Given the description of an element on the screen output the (x, y) to click on. 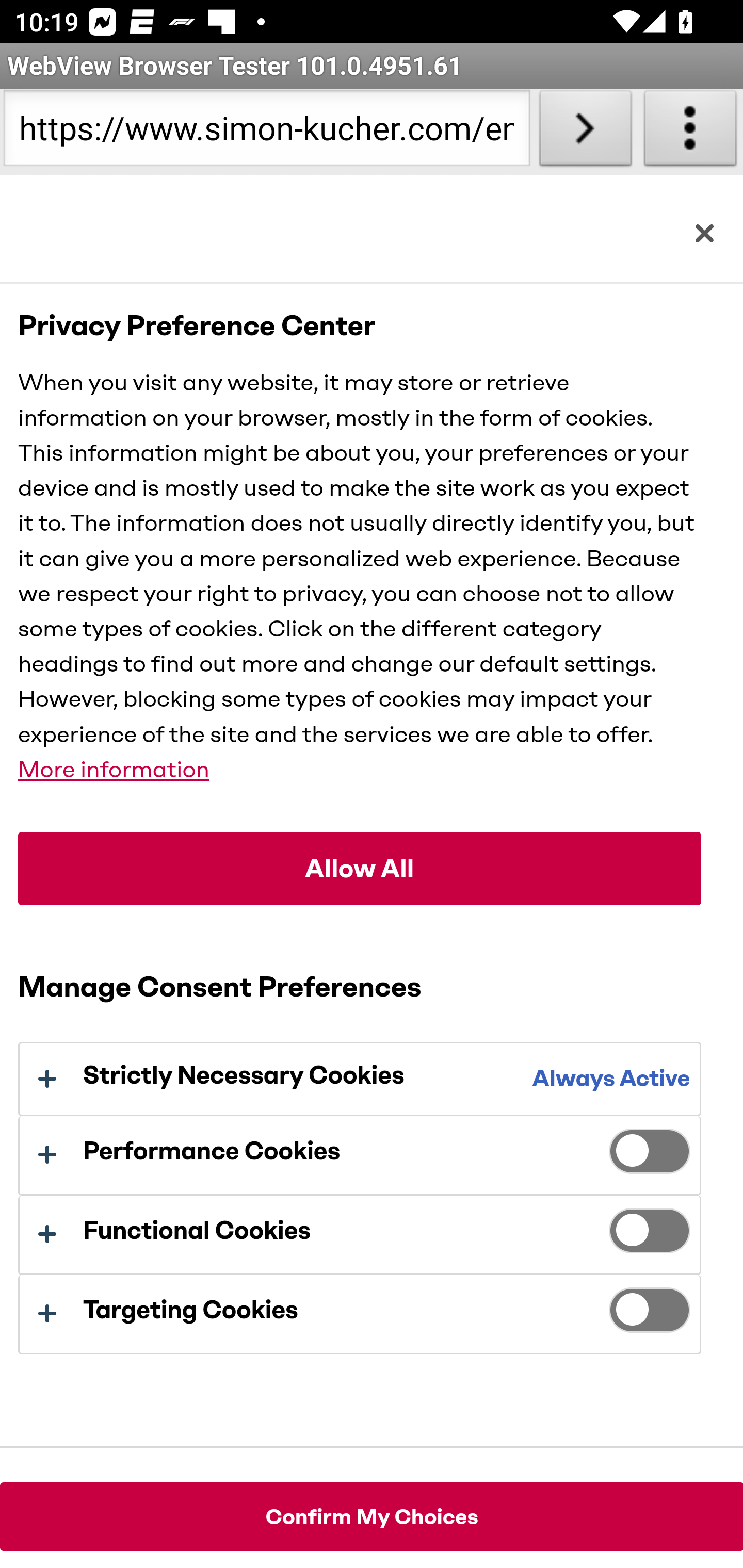
Load URL (585, 132)
About WebView (690, 132)
Close (703, 233)
Allow All (359, 869)
Strictly Necessary Cookies Always Active (358, 1079)
Performance Cookies (358, 1155)
Performance Cookies (649, 1155)
Functional Cookies (358, 1234)
Functional Cookies (649, 1234)
Targeting Cookies (358, 1313)
Targeting Cookies (649, 1314)
Confirm My Choices (371, 1516)
